Given the description of an element on the screen output the (x, y) to click on. 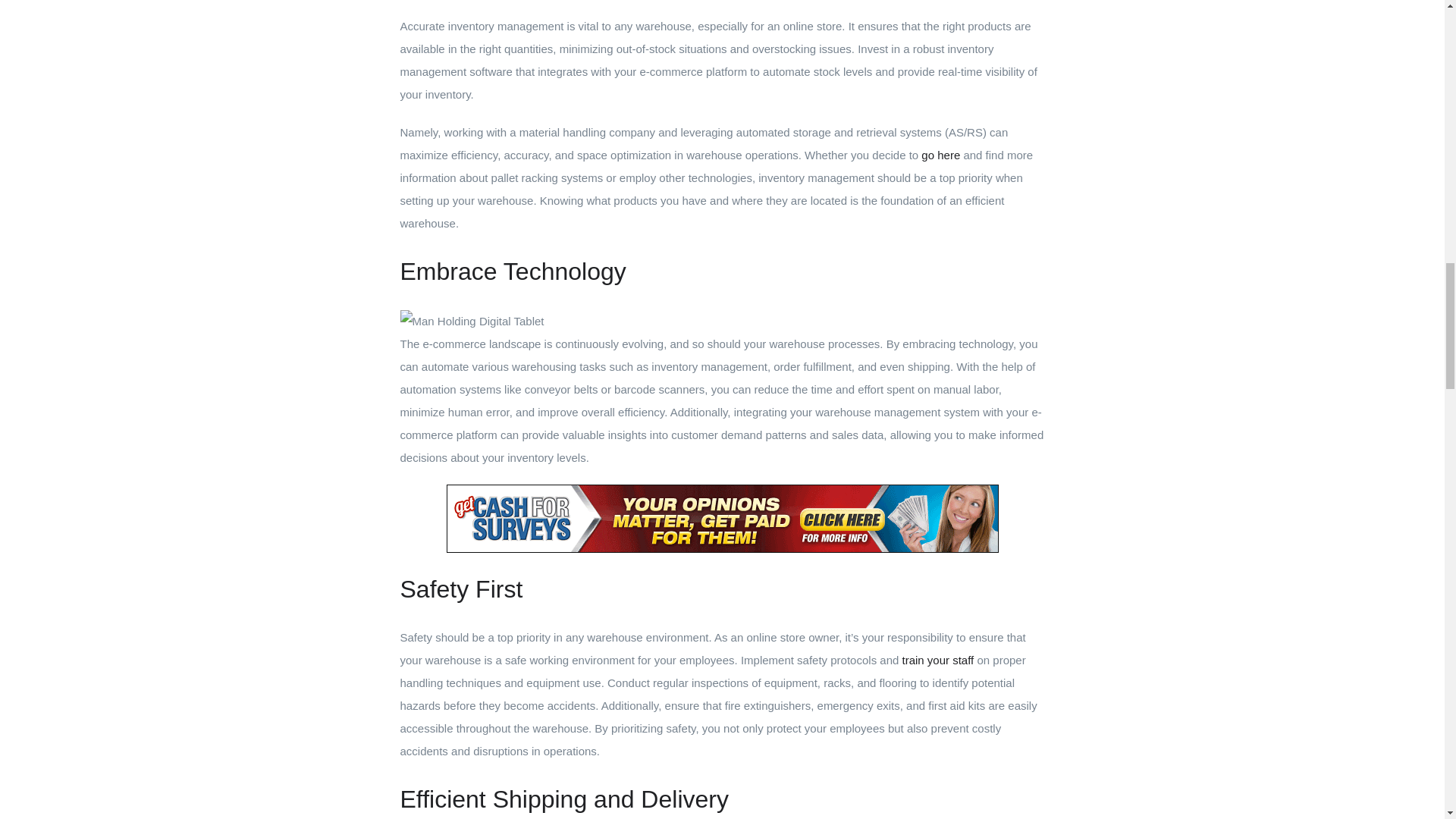
Man Holding Digital Tablet (472, 321)
